Given the description of an element on the screen output the (x, y) to click on. 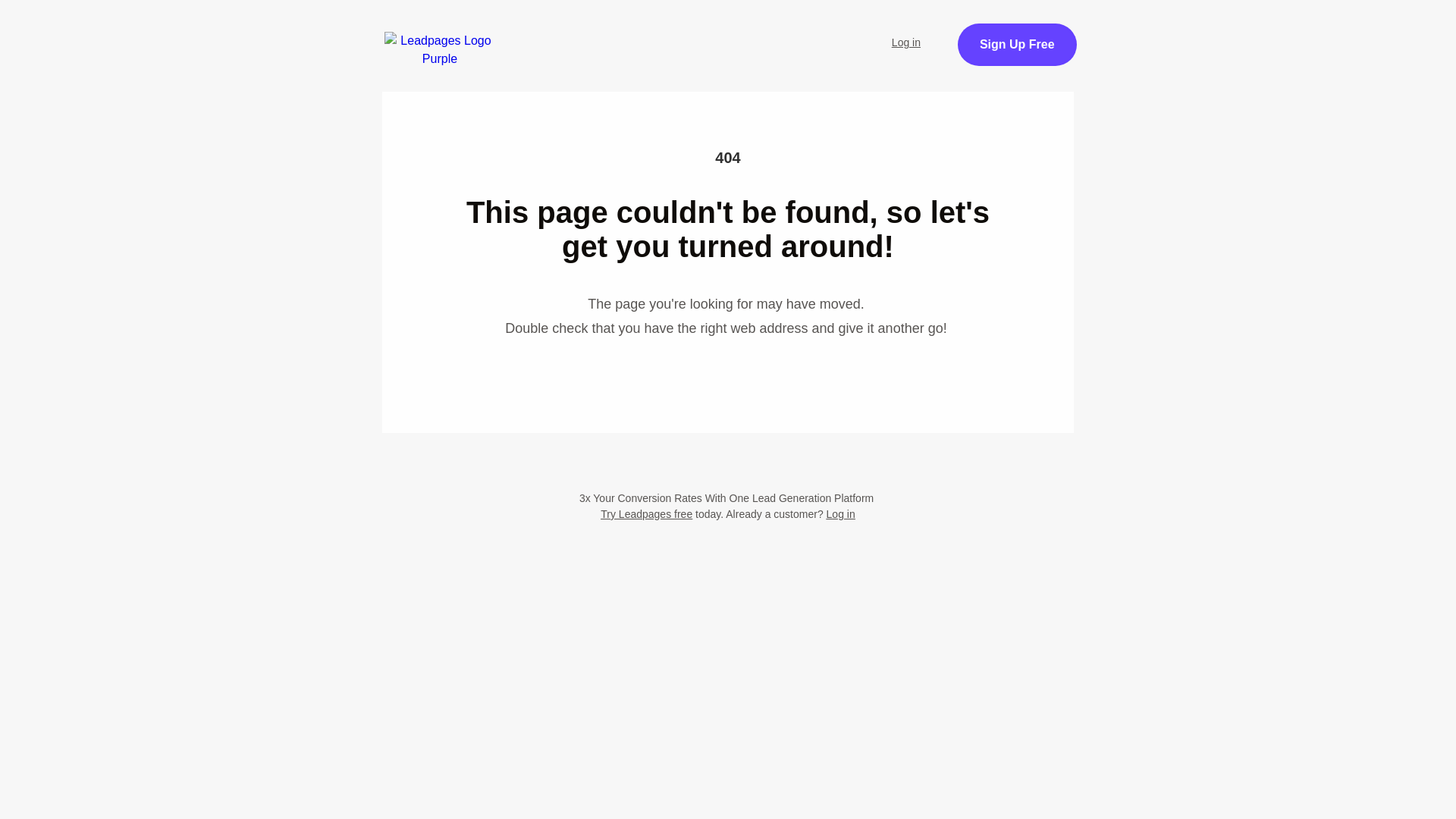
Get Free Prophecy (1070, 53)
Start Spiritual Gifts Test (627, 33)
HOME (501, 33)
Our Verse of the Day (791, 33)
Get Free Book From The Ministry (727, 150)
Give To The Ministry (529, 74)
